Given the description of an element on the screen output the (x, y) to click on. 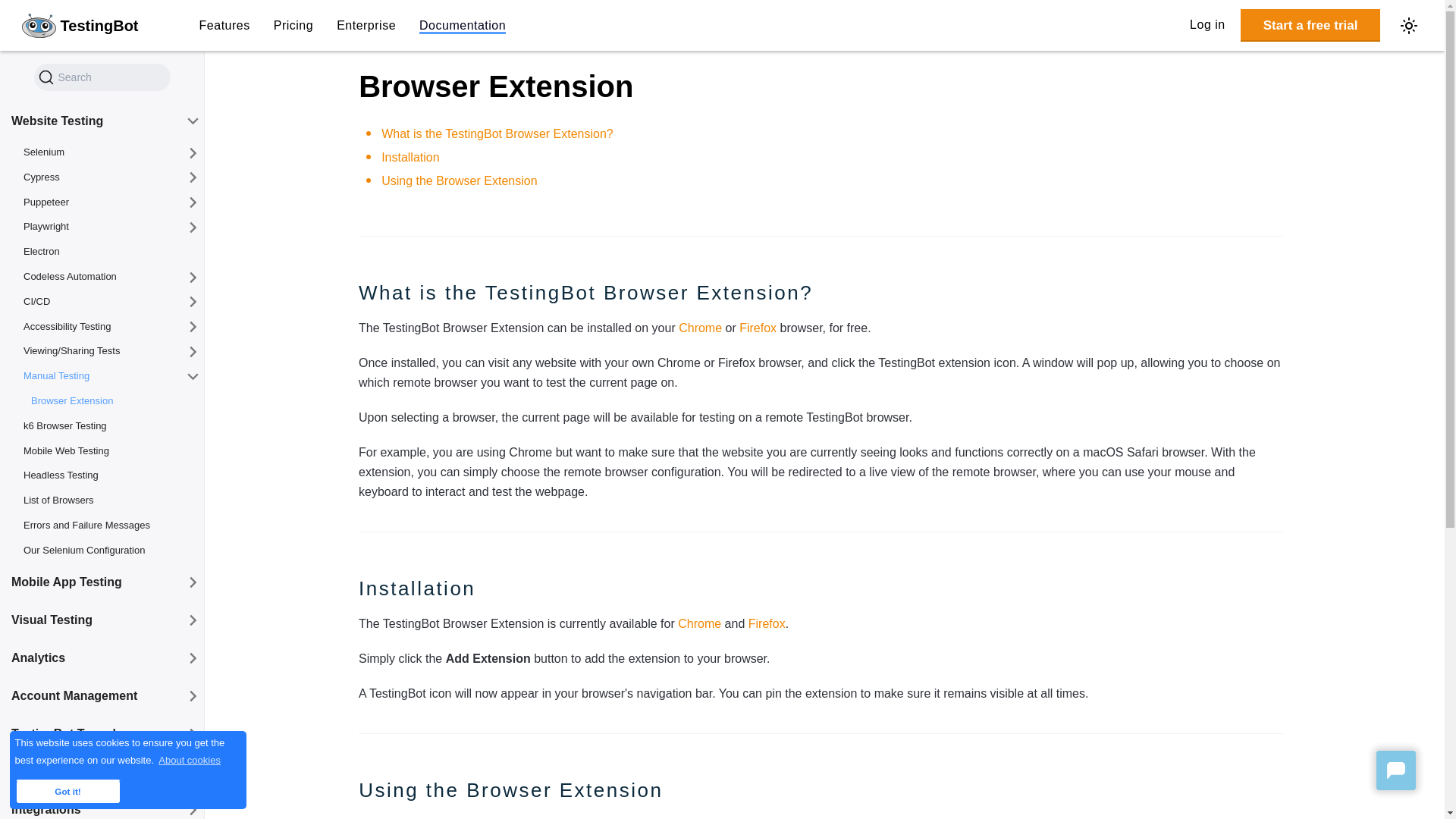
Cross Browser Testing (79, 25)
Pricing (293, 26)
Documentation (462, 26)
Open Chat (1395, 770)
Enterprise (366, 26)
TestingBot (79, 25)
Start a free trial (1310, 25)
Features (224, 26)
Log in (1207, 25)
